Given the description of an element on the screen output the (x, y) to click on. 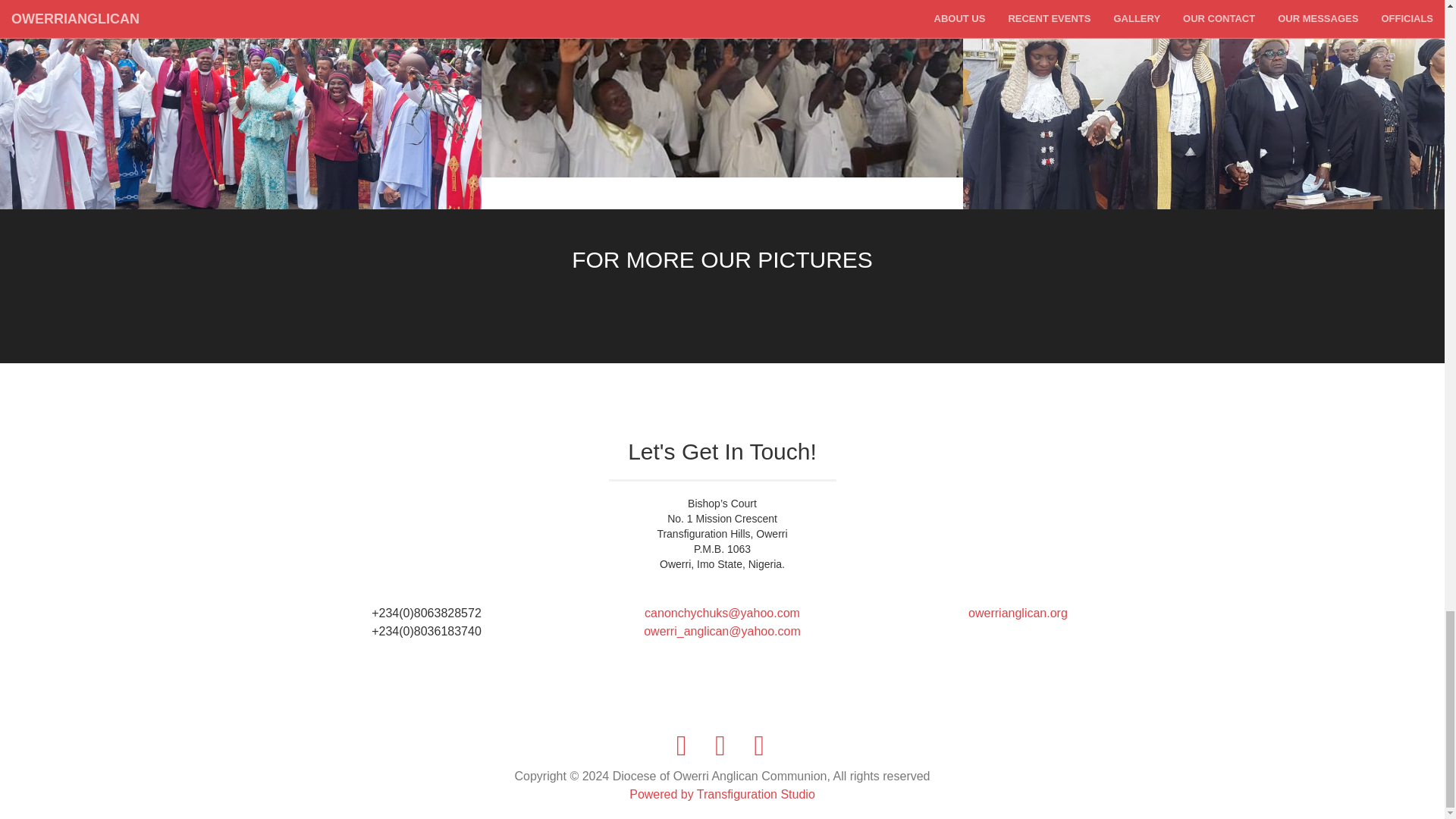
owerrianglican.org (1017, 612)
